Given the description of an element on the screen output the (x, y) to click on. 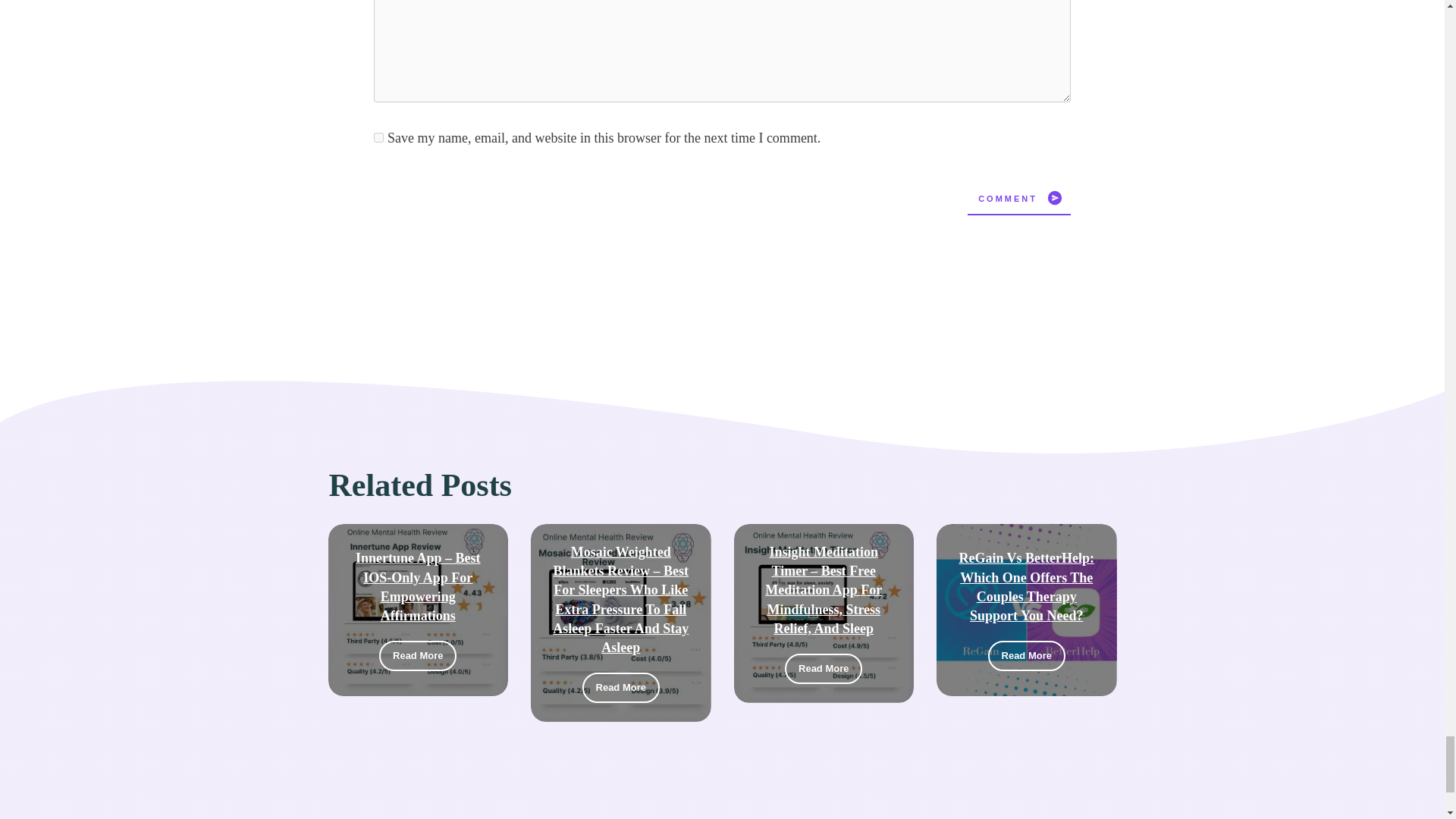
yes (379, 137)
Read More (822, 668)
Read More (417, 655)
Read More (620, 687)
COMMENT (1019, 197)
